Given the description of an element on the screen output the (x, y) to click on. 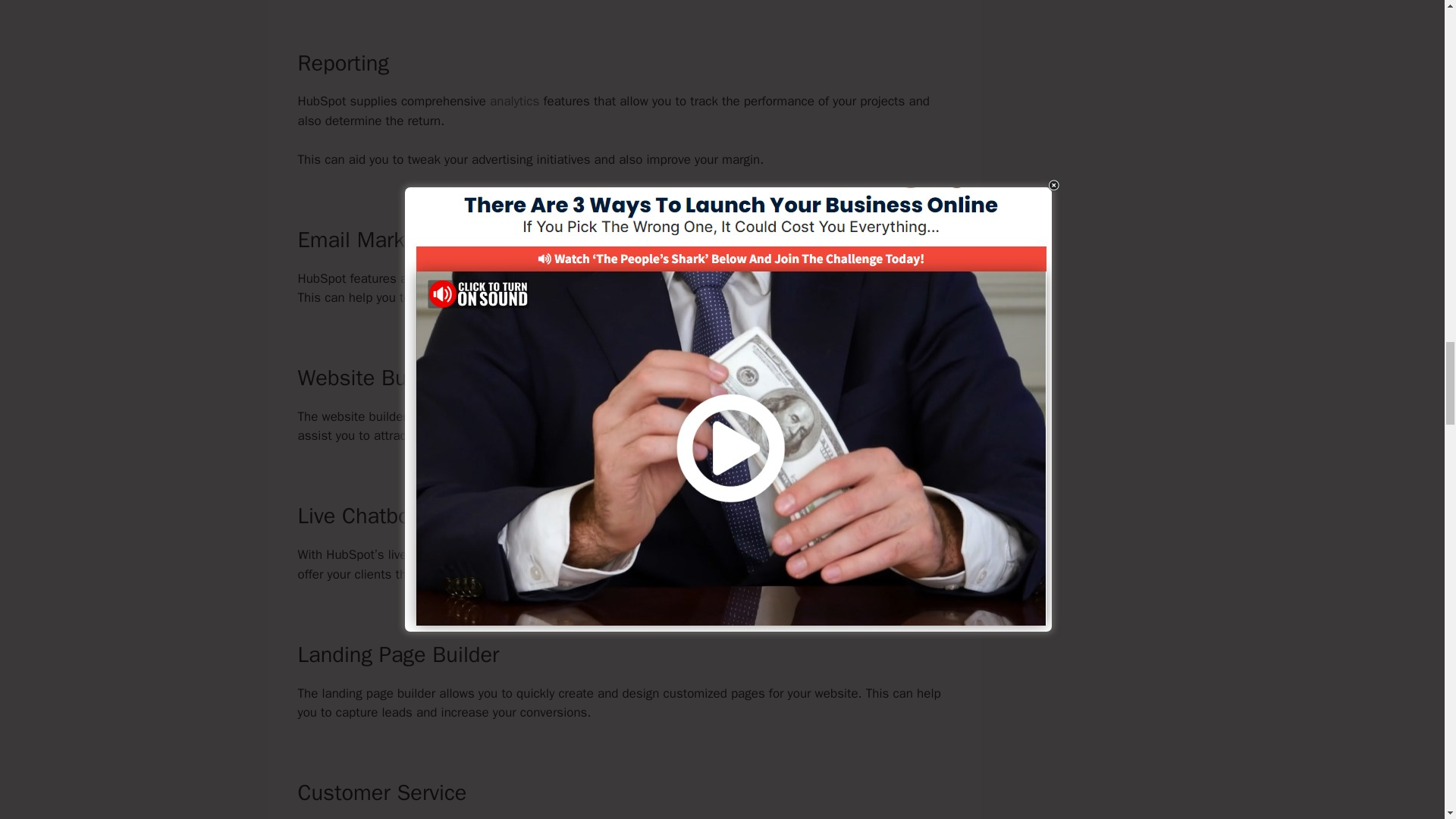
analytics (513, 100)
emails (795, 278)
